Given the description of an element on the screen output the (x, y) to click on. 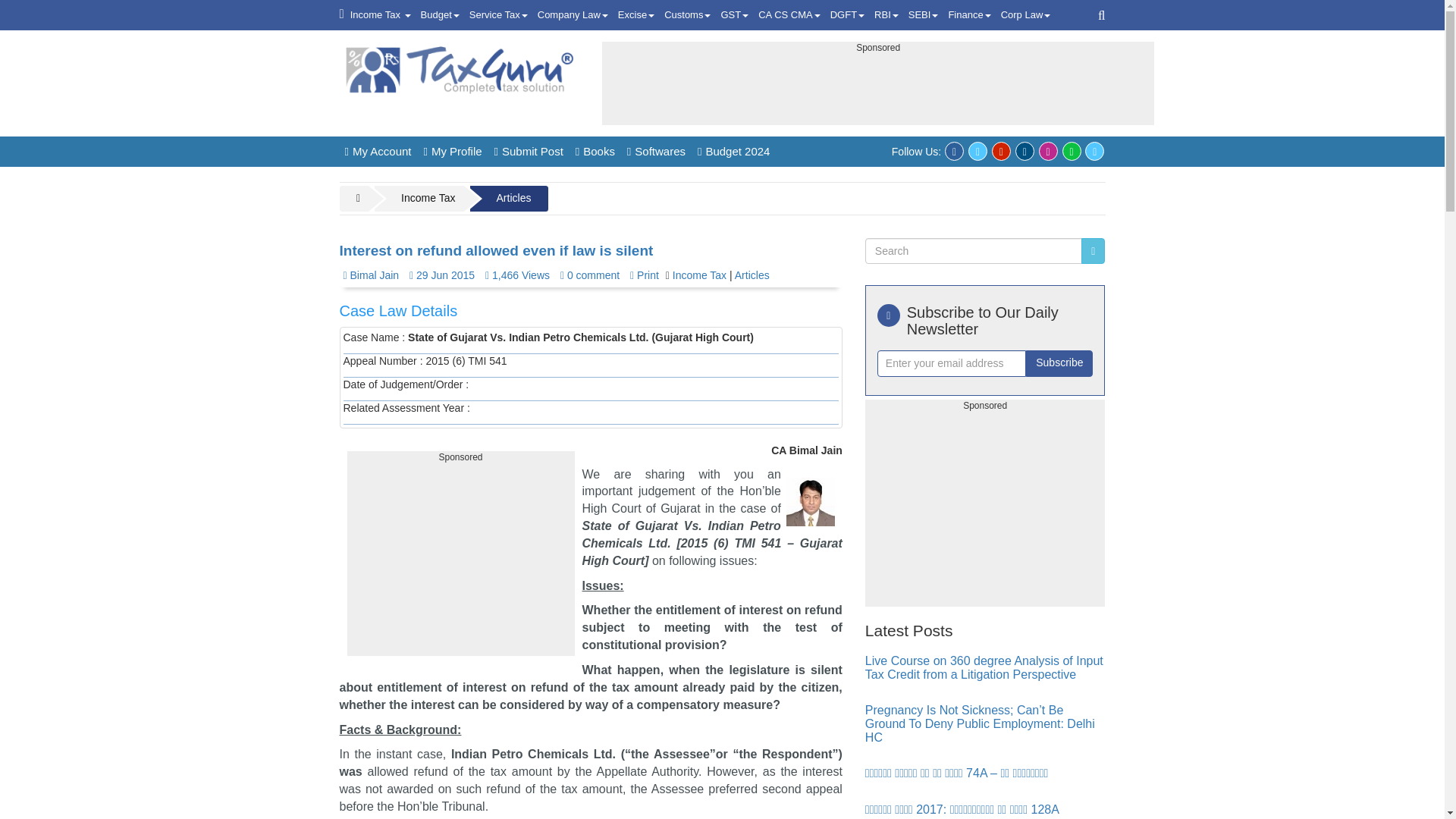
Customs (687, 15)
Budget (439, 15)
Income Tax (380, 15)
Union Budget 2024 Article News Notifications (439, 15)
Service Tax (498, 15)
Income Tax Related Information (380, 15)
Service Tax Article News Notifications Judgments (498, 15)
Excise (636, 15)
Company Law (572, 15)
